Given the description of an element on the screen output the (x, y) to click on. 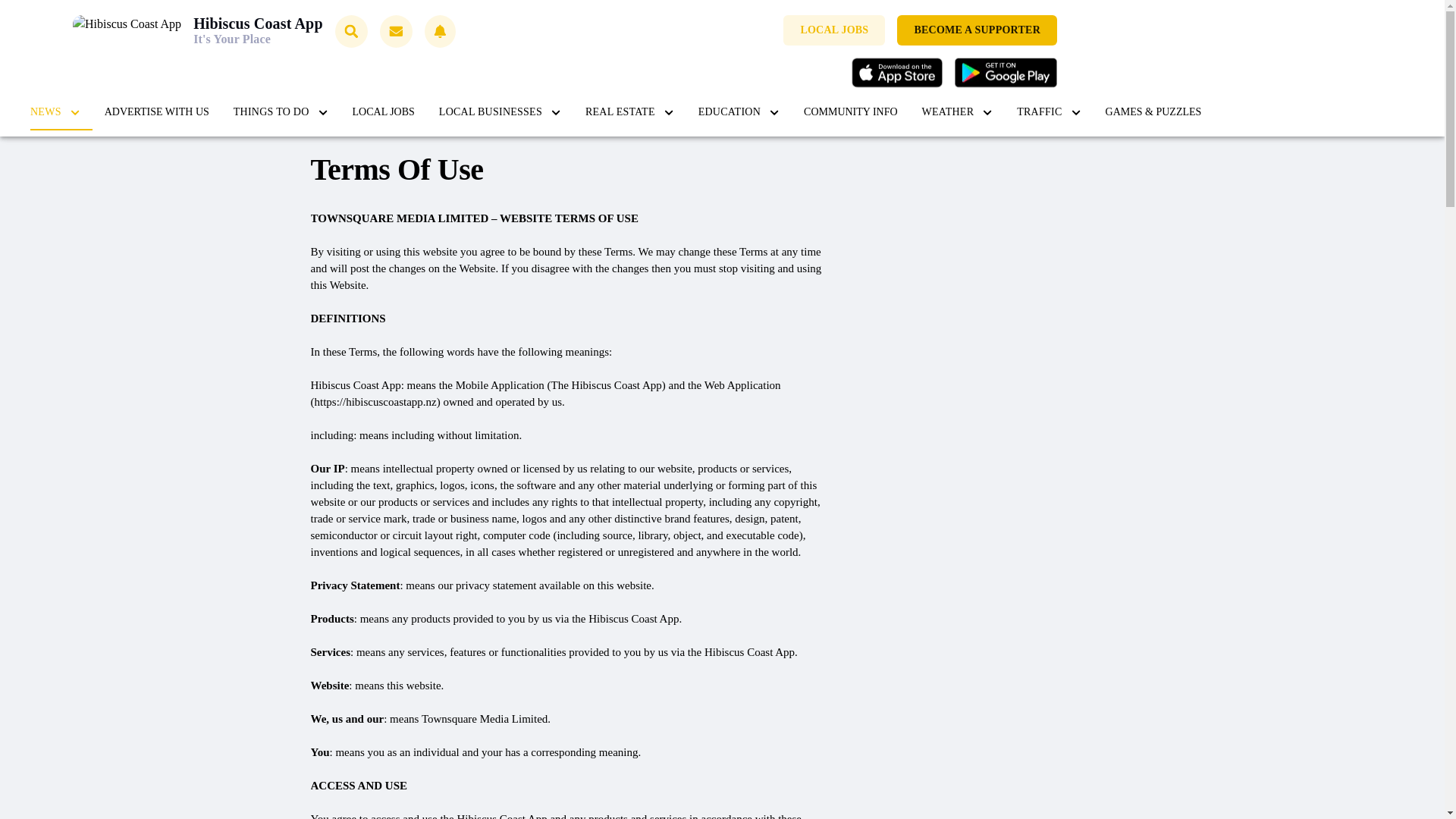
NEWS (55, 112)
LOCAL JOBS (383, 112)
BECOME A SUPPORTER (976, 30)
Notifications (440, 31)
LOCAL BUSINESSES (499, 112)
REAL ESTATE (629, 112)
COMMUNITY INFO (851, 112)
TRAFFIC (1048, 112)
Contact Us (396, 31)
LOCAL JOBS (834, 30)
